Given the description of an element on the screen output the (x, y) to click on. 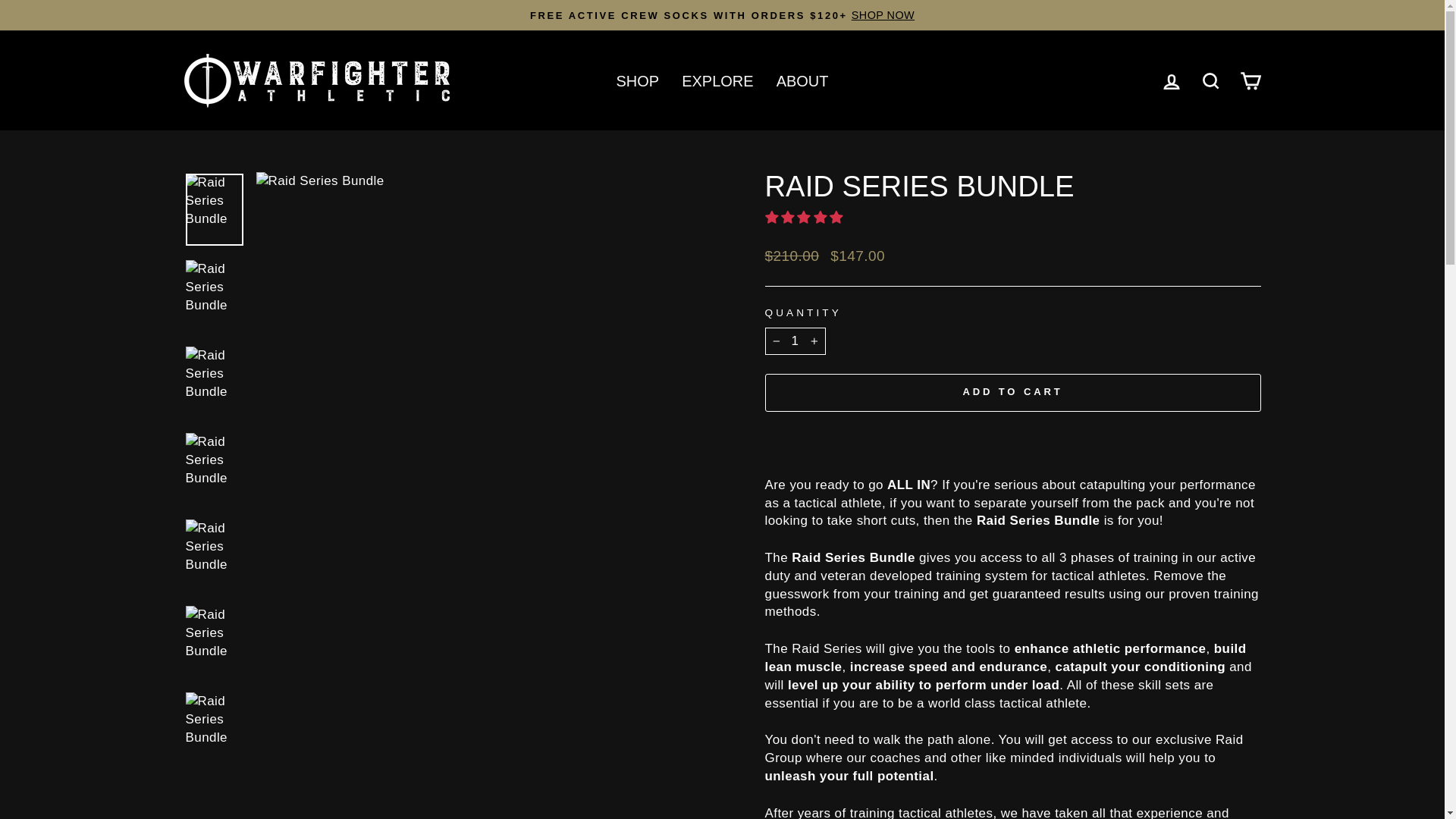
1 (794, 340)
